Given the description of an element on the screen output the (x, y) to click on. 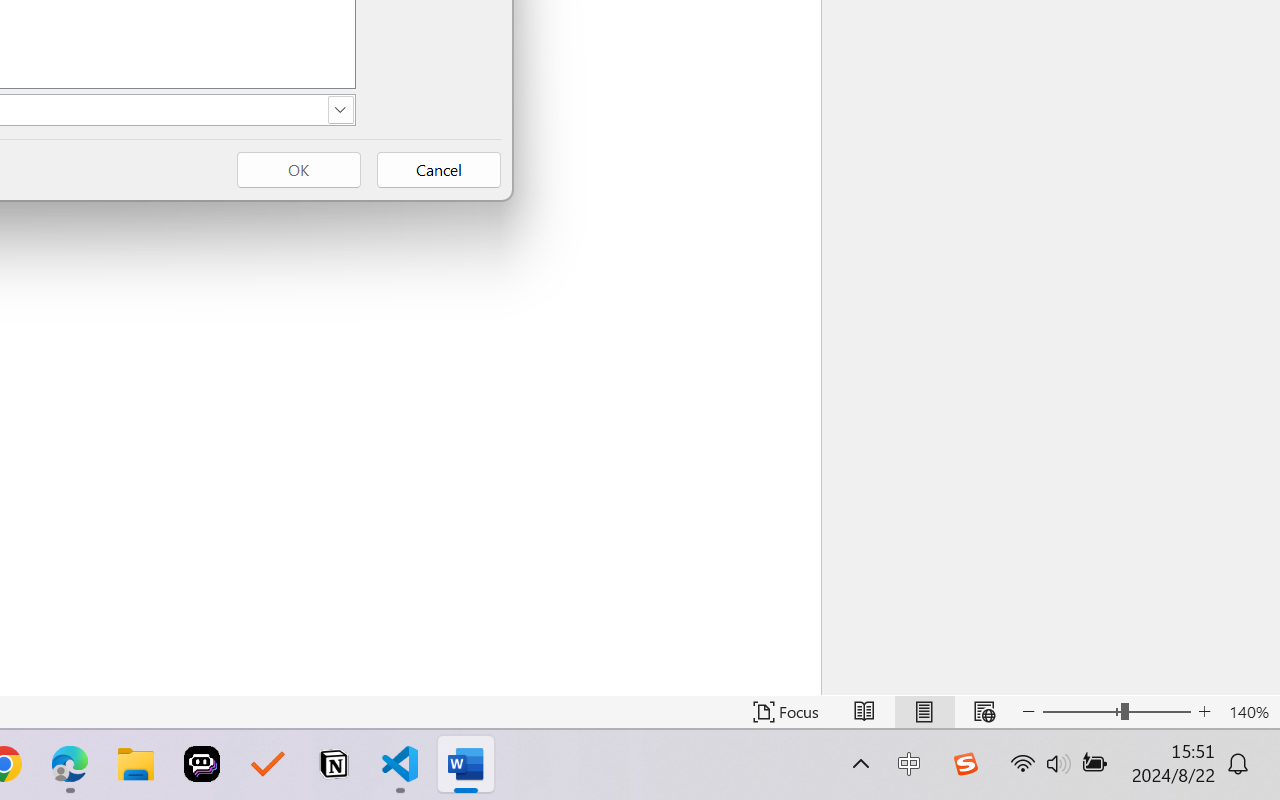
Zoom In (1204, 712)
Read Mode (864, 712)
Print Layout (924, 712)
OK (298, 169)
Zoom 140% (1249, 712)
Cancel (438, 169)
Class: Image (965, 764)
Zoom Out (1081, 712)
Notion (333, 764)
